Given the description of an element on the screen output the (x, y) to click on. 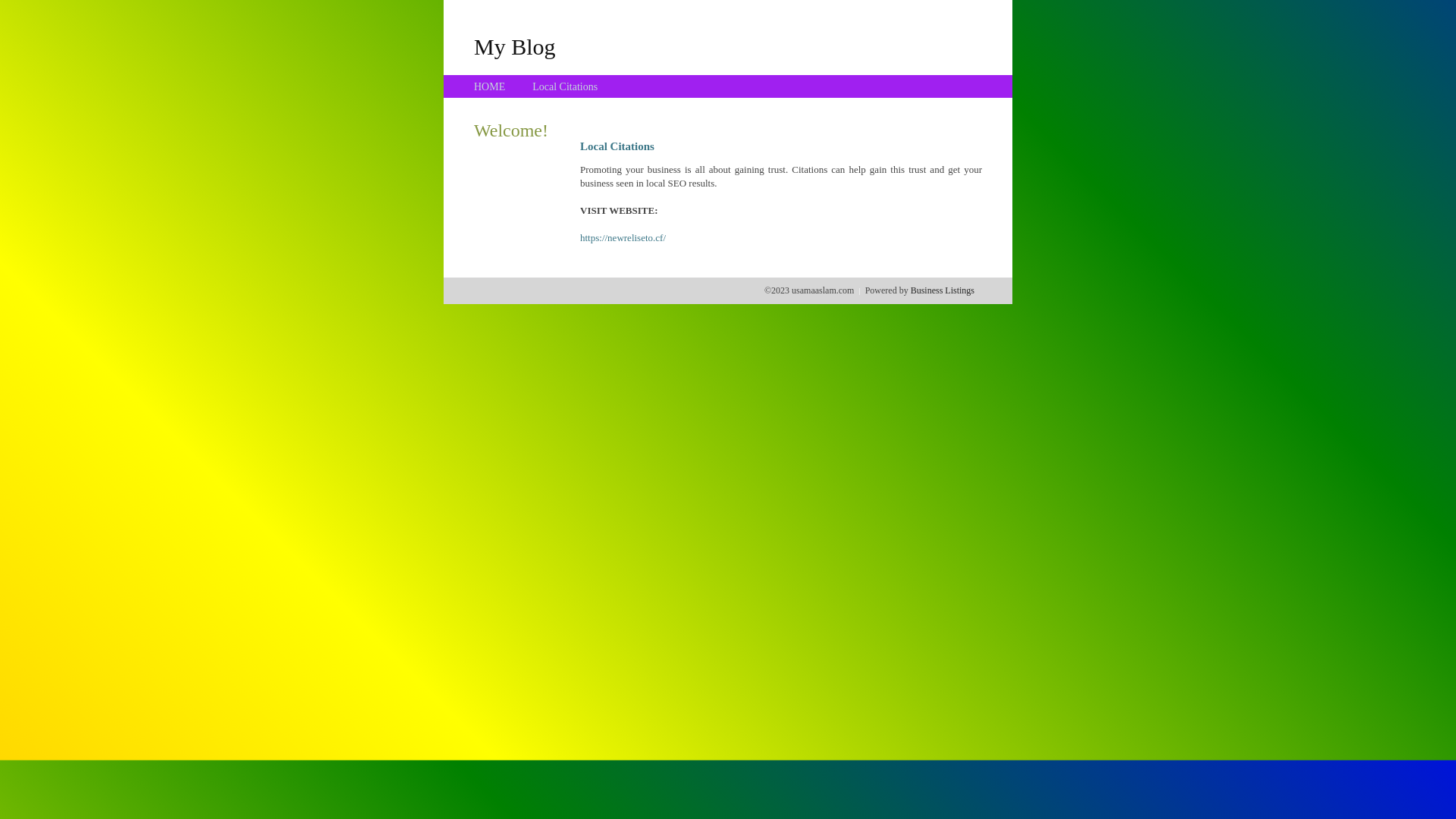
HOME Element type: text (489, 86)
Local Citations Element type: text (564, 86)
https://newreliseto.cf/ Element type: text (622, 237)
Business Listings Element type: text (942, 290)
My Blog Element type: text (514, 46)
